Given the description of an element on the screen output the (x, y) to click on. 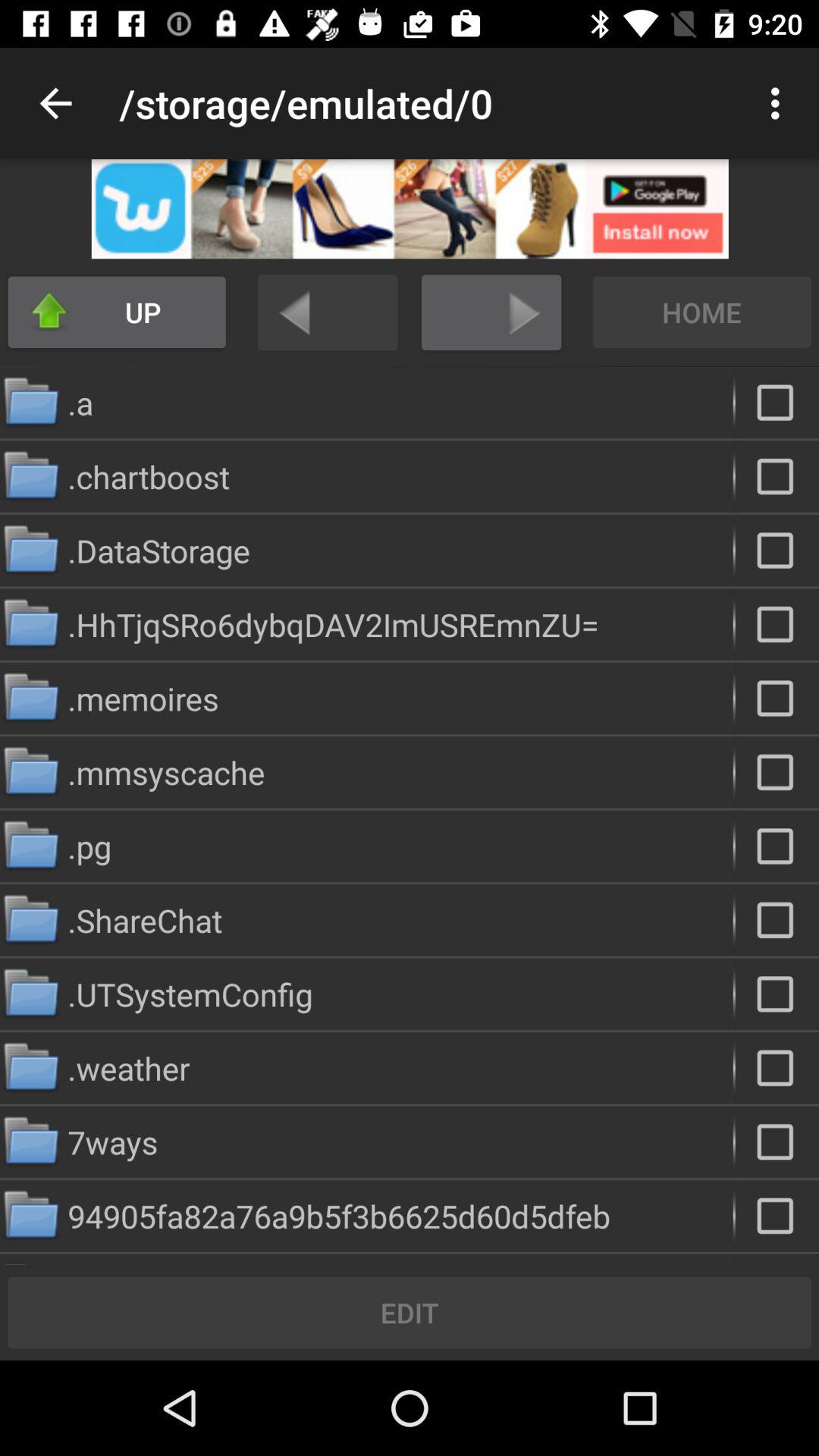
undo (327, 312)
